Given the description of an element on the screen output the (x, y) to click on. 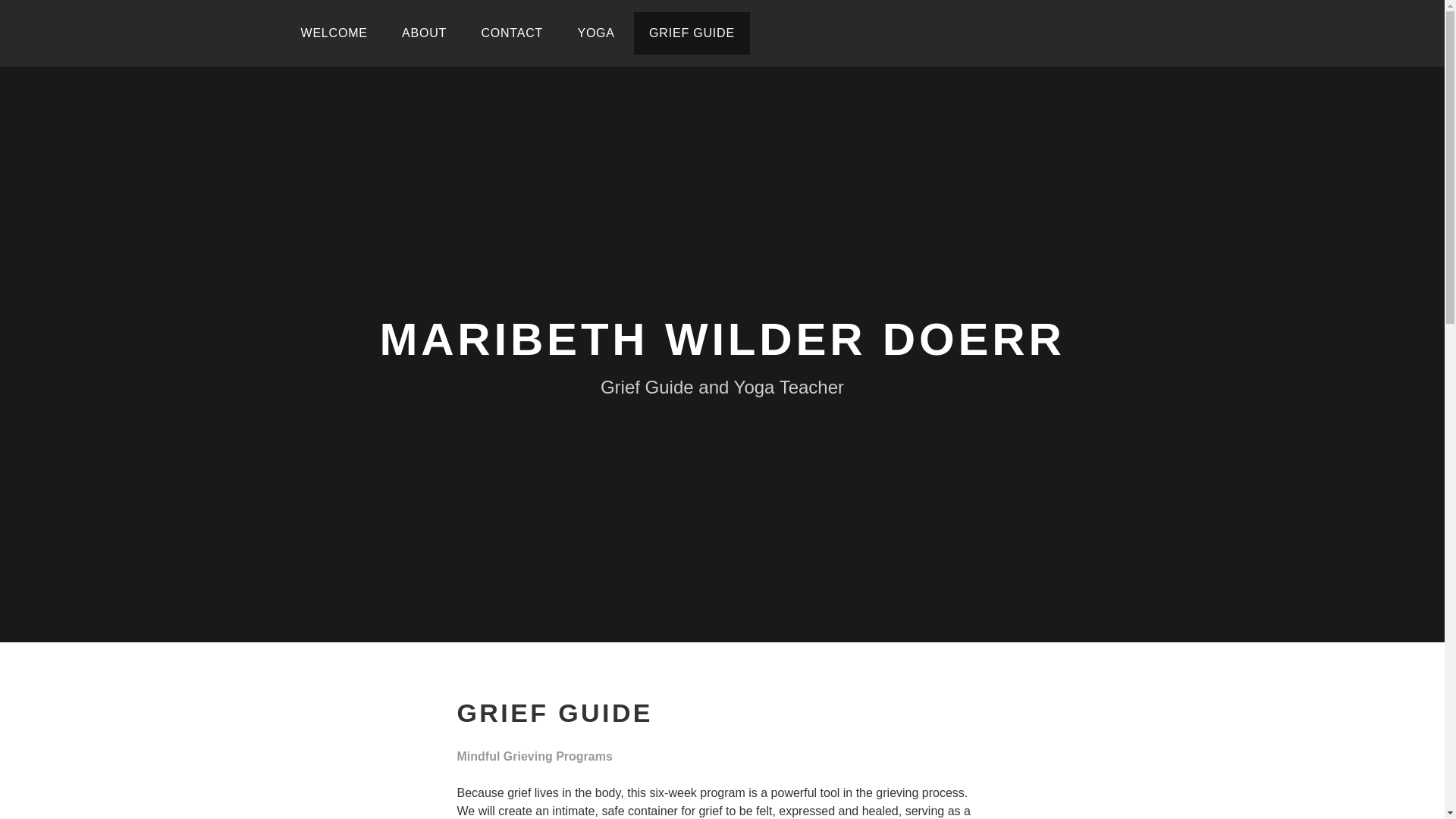
CONTACT (511, 33)
Mindful Grieving Programs (534, 757)
ABOUT (424, 33)
YOGA (595, 33)
GRIEF GUIDE (691, 33)
WELCOME (333, 33)
MARIBETH WILDER DOERR (721, 338)
